Given the description of an element on the screen output the (x, y) to click on. 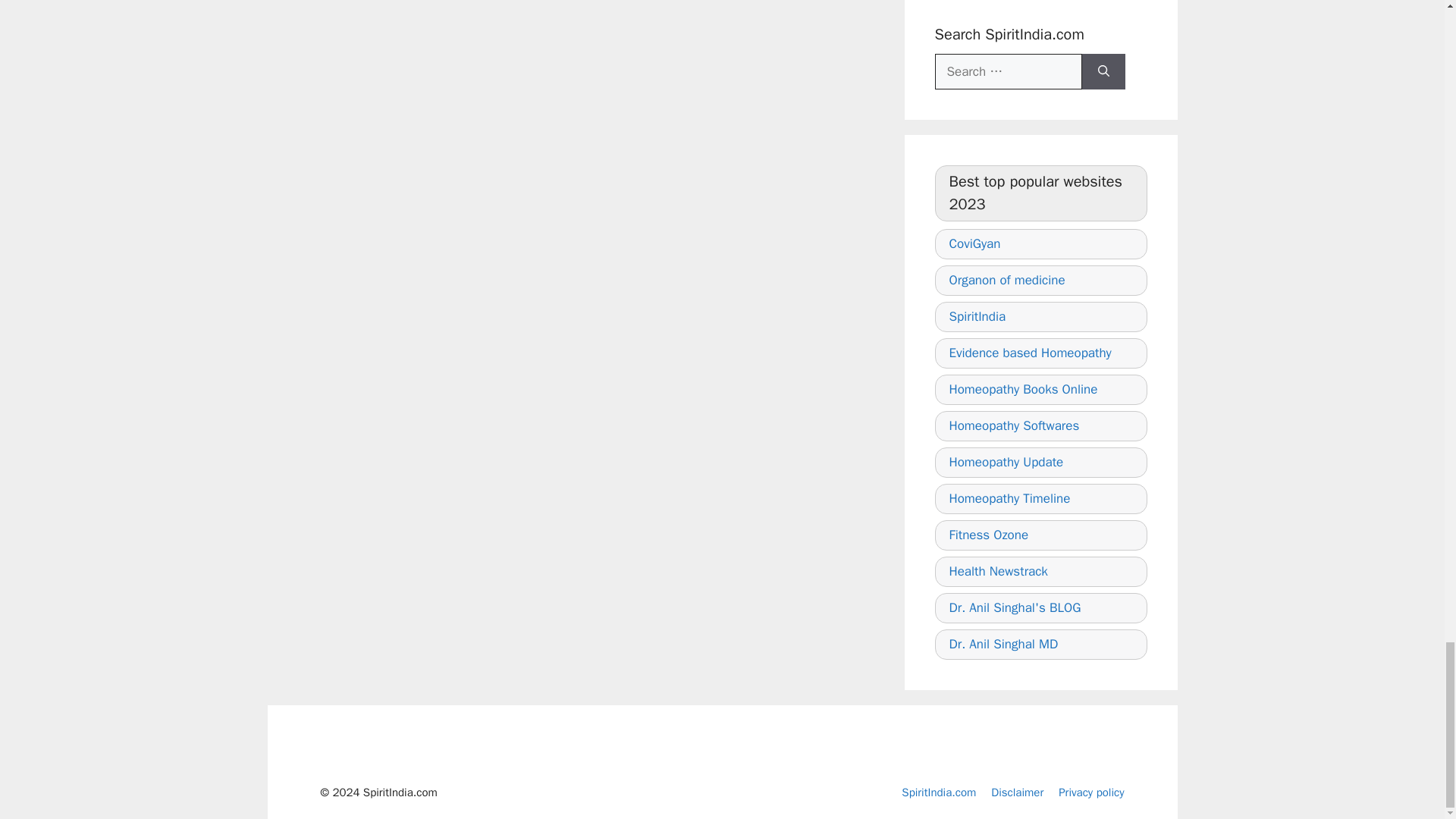
Search for: (1007, 72)
